Given the description of an element on the screen output the (x, y) to click on. 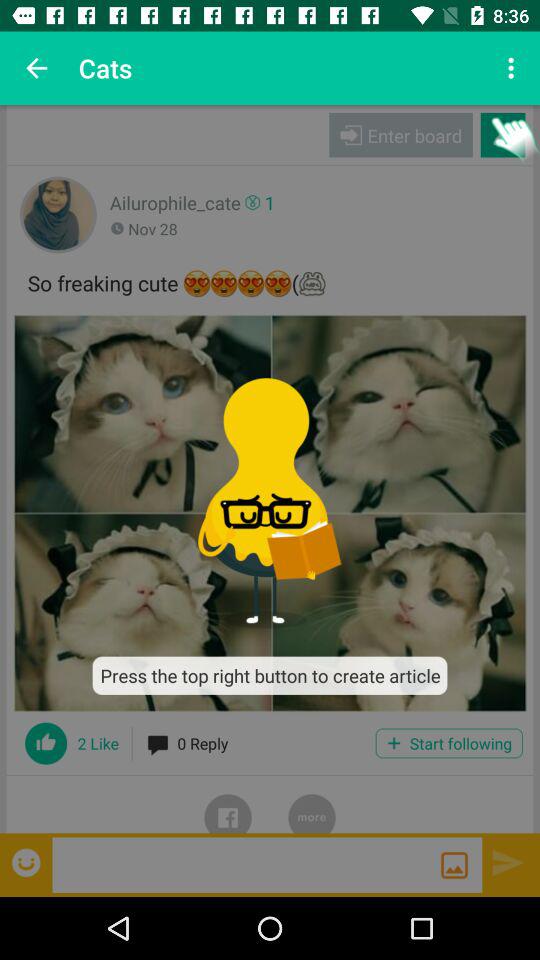
tap so freaking cute icon (269, 280)
